Given the description of an element on the screen output the (x, y) to click on. 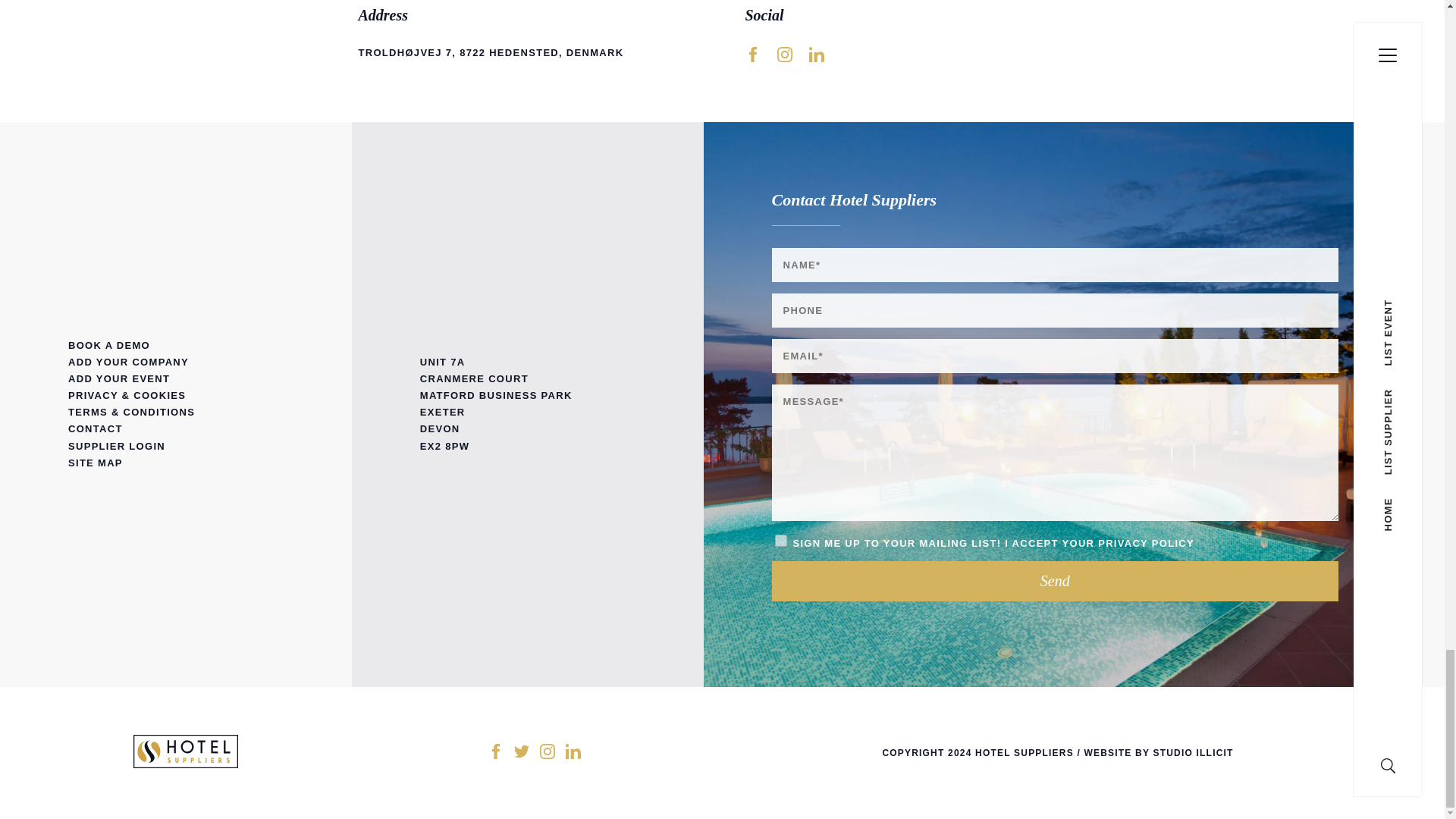
SUPPLIER LOGIN (175, 446)
Send (1055, 581)
CONTACT (175, 428)
ADD YOUR EVENT (175, 379)
Send (1055, 581)
SITE MAP (175, 463)
BOOK A DEMO (175, 345)
ADD YOUR COMPANY (175, 362)
